Given the description of an element on the screen output the (x, y) to click on. 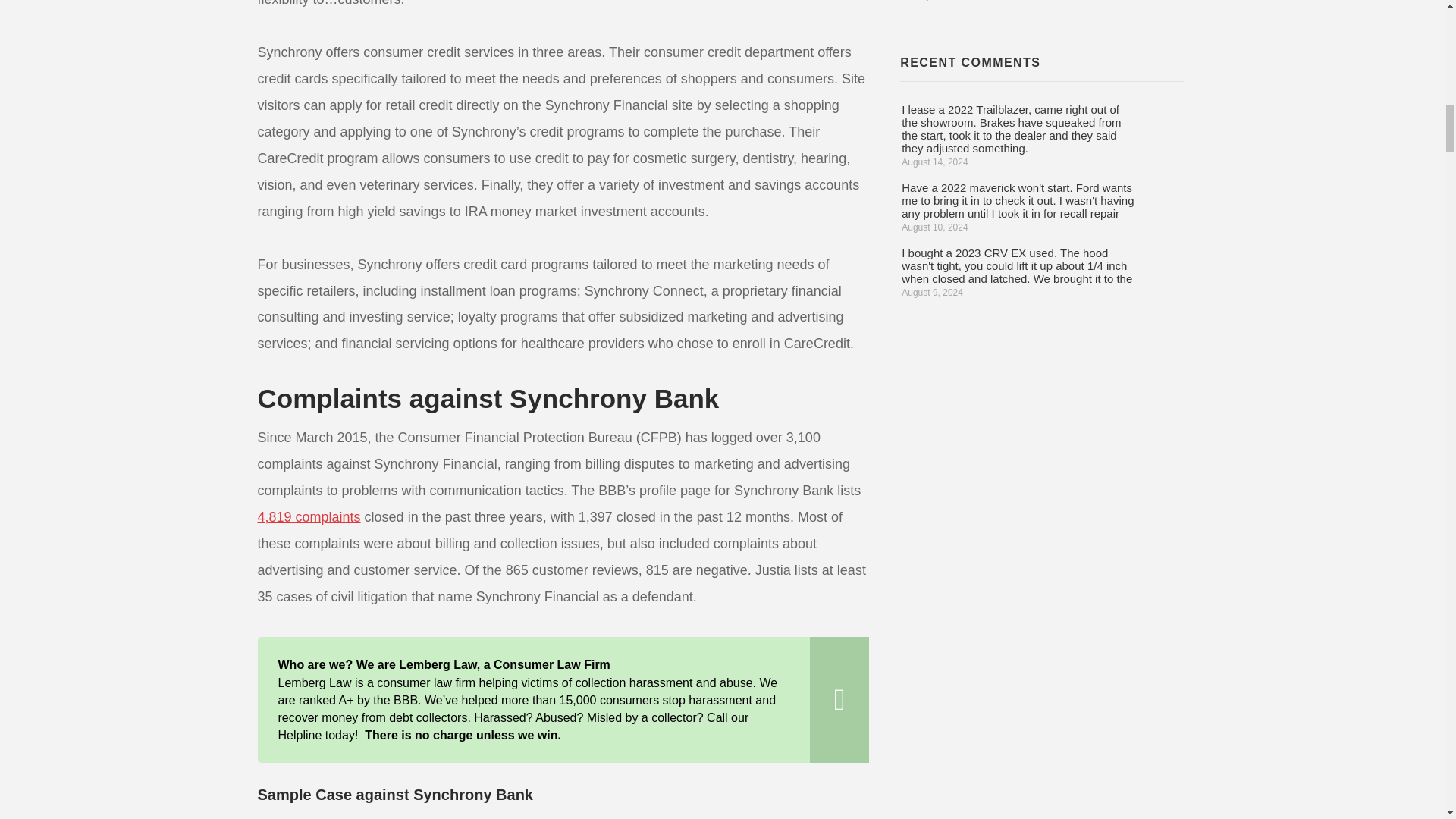
4,819 complaints (309, 516)
